Given the description of an element on the screen output the (x, y) to click on. 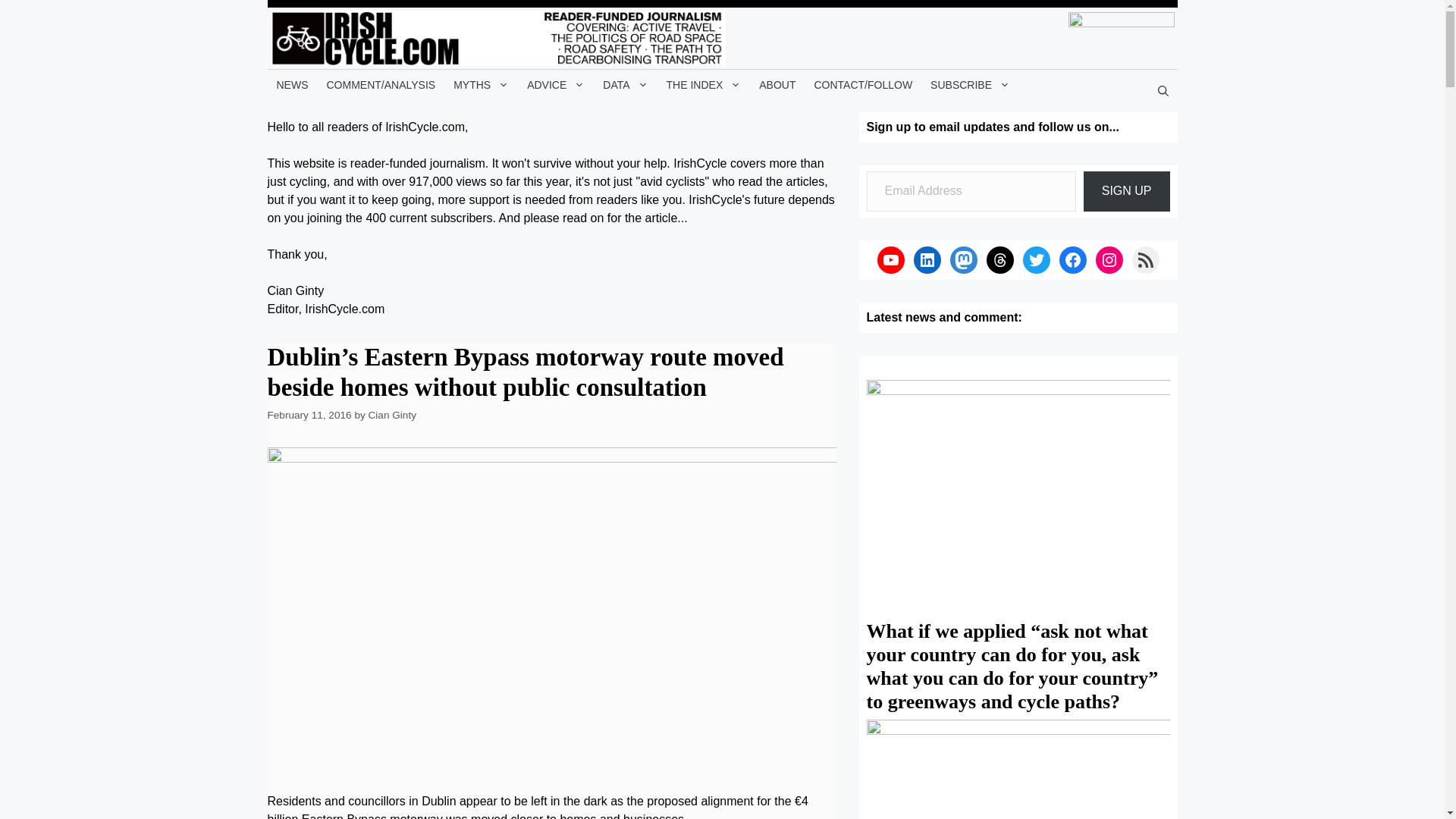
NEWS (291, 84)
DATA (625, 84)
MYTHS (481, 84)
THE INDEX (704, 84)
more support is needed from readers like you. (561, 199)
Cian Ginty (392, 414)
SUBSCRIBE (970, 84)
Please fill in this field. (970, 191)
View all posts by Cian Ginty (392, 414)
ADVICE (556, 84)
